Given the description of an element on the screen output the (x, y) to click on. 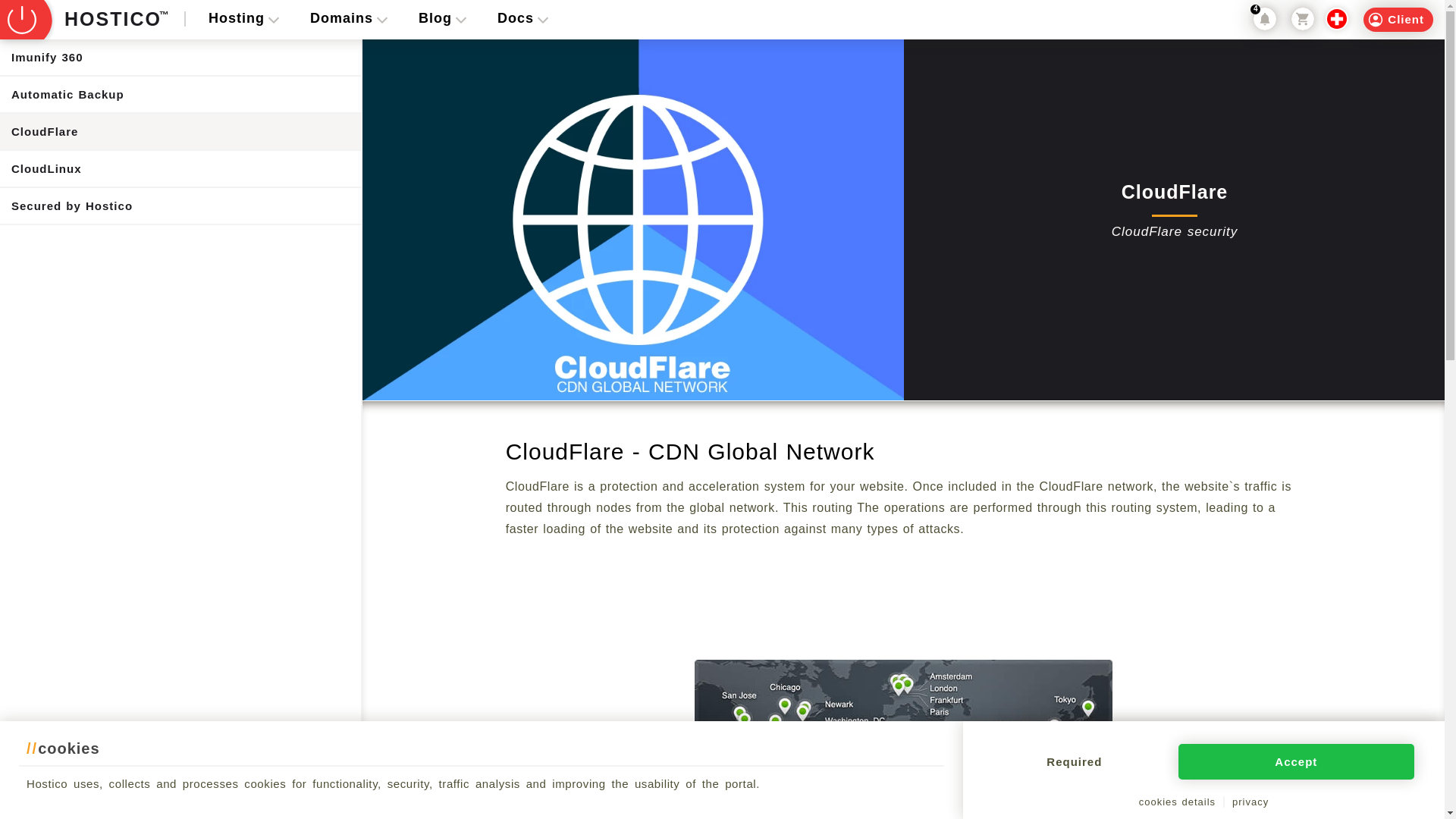
Automatic Backup (180, 94)
Imunify 360 (180, 57)
CloudFlare (180, 131)
Secured by Hostico (180, 205)
CloudLinux (180, 168)
Client (1397, 19)
